Given the description of an element on the screen output the (x, y) to click on. 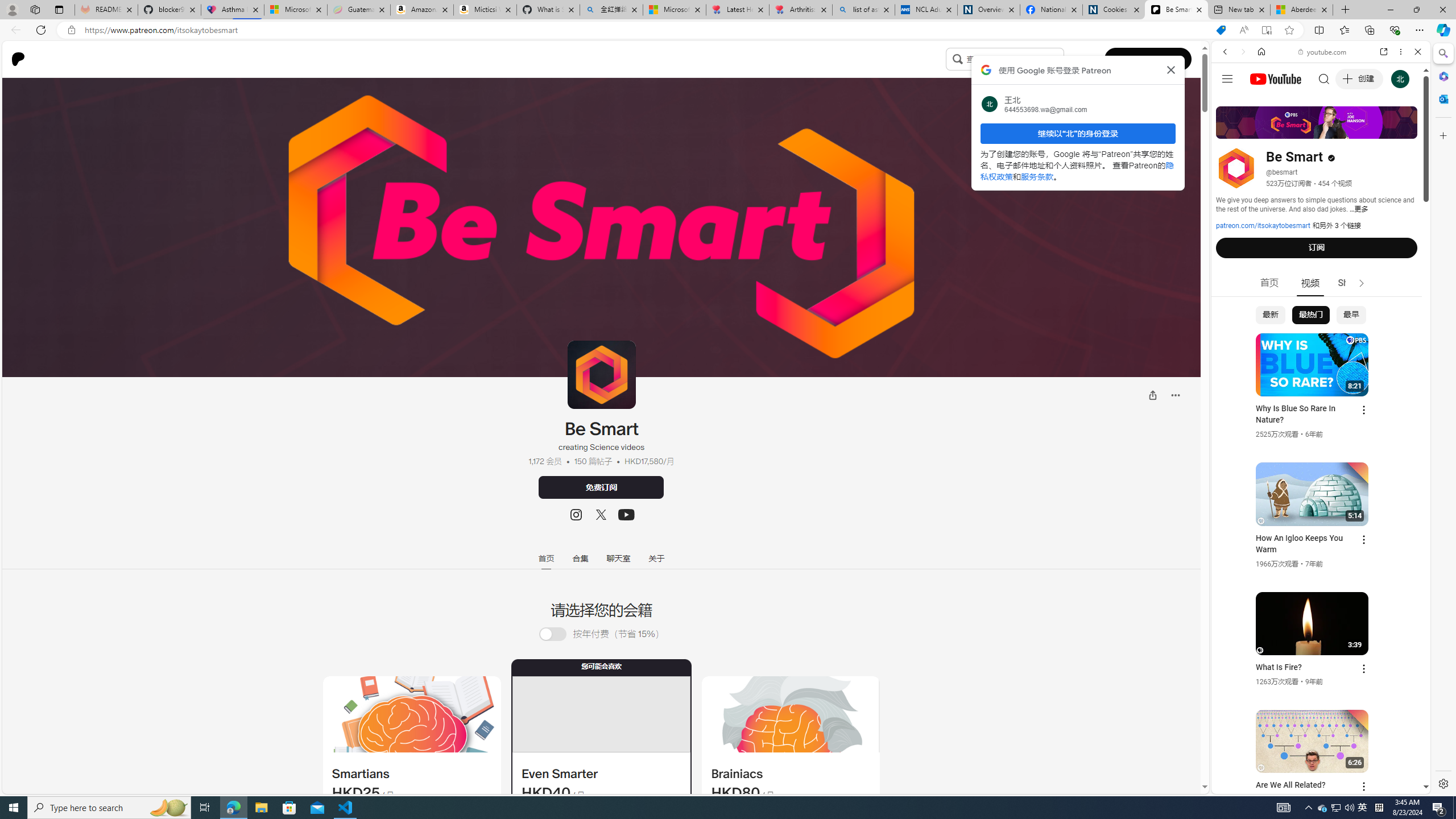
US[ju] (1249, 785)
Cookies | About | NICE (1113, 9)
To get missing image descriptions, open the context menu. (410, 713)
Home (1261, 51)
This site scope (1259, 102)
Class: dict_pnIcon rms_img (1312, 784)
Side bar (1443, 418)
IMAGES (1262, 130)
